Given the description of an element on the screen output the (x, y) to click on. 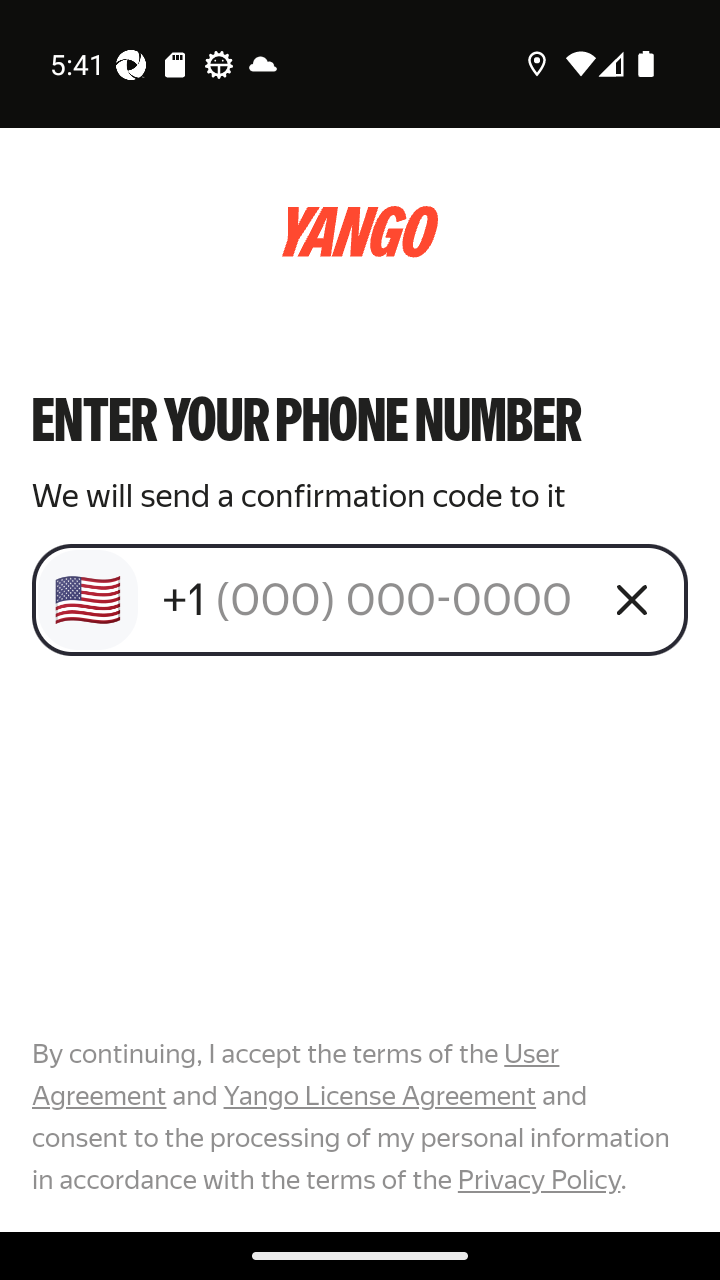
logo (359, 231)
🇺🇸 (88, 600)
+1 (372, 599)
User Agreement (295, 1075)
Yango License Agreement (379, 1096)
Privacy Policy (538, 1179)
